Given the description of an element on the screen output the (x, y) to click on. 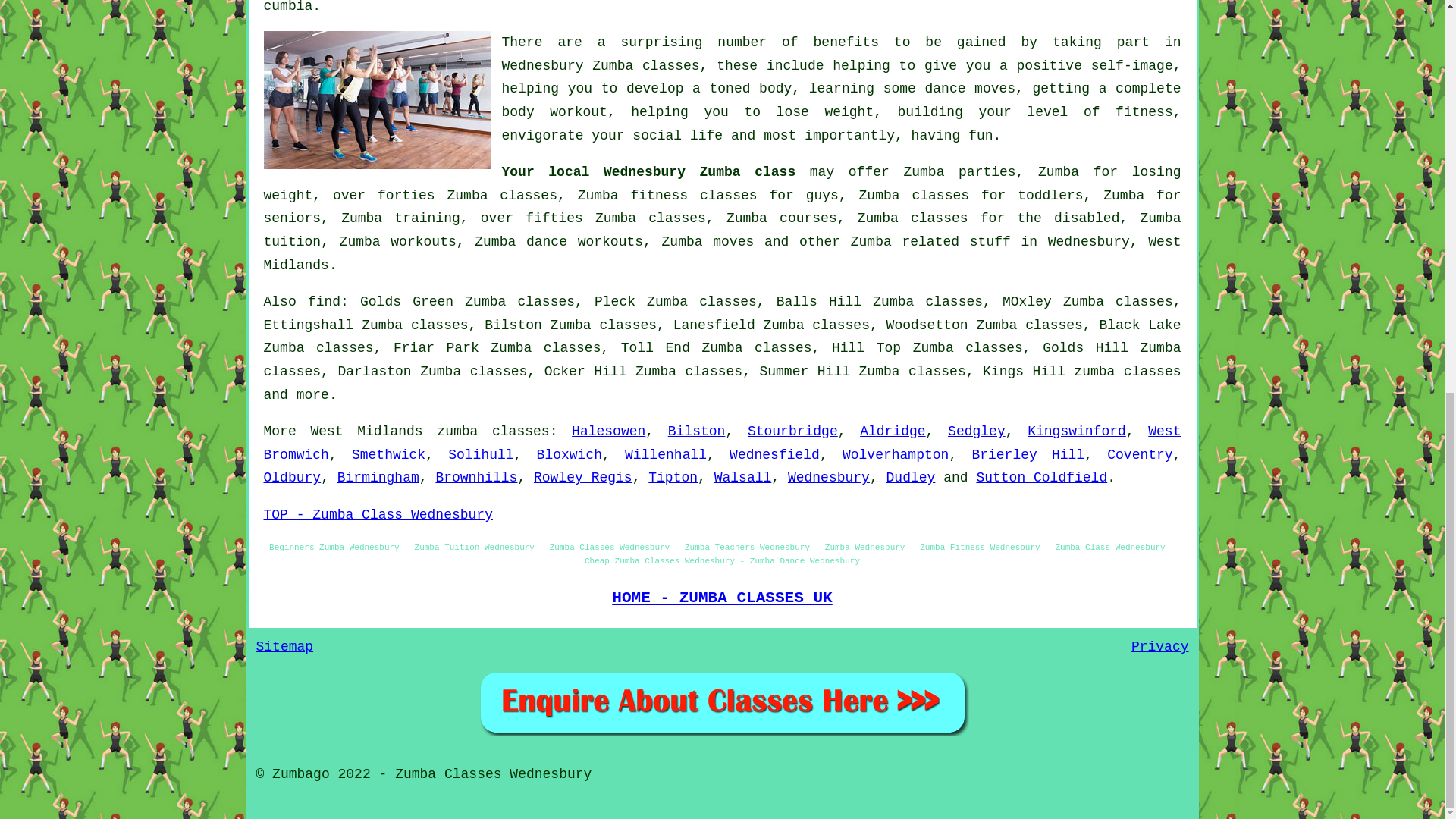
Coventry (1139, 454)
Smethwick (388, 454)
workouts (610, 241)
disabled (1086, 218)
Wolverhampton (896, 454)
Wednesbury Zumba class (699, 171)
tuition (292, 241)
Book Zumba Classes (722, 702)
West Midlands (721, 253)
Kingswinford (1076, 431)
Bilston (696, 431)
Willenhall (665, 454)
disabled (1086, 218)
Sedgley (976, 431)
Wednesfield (774, 454)
